Given the description of an element on the screen output the (x, y) to click on. 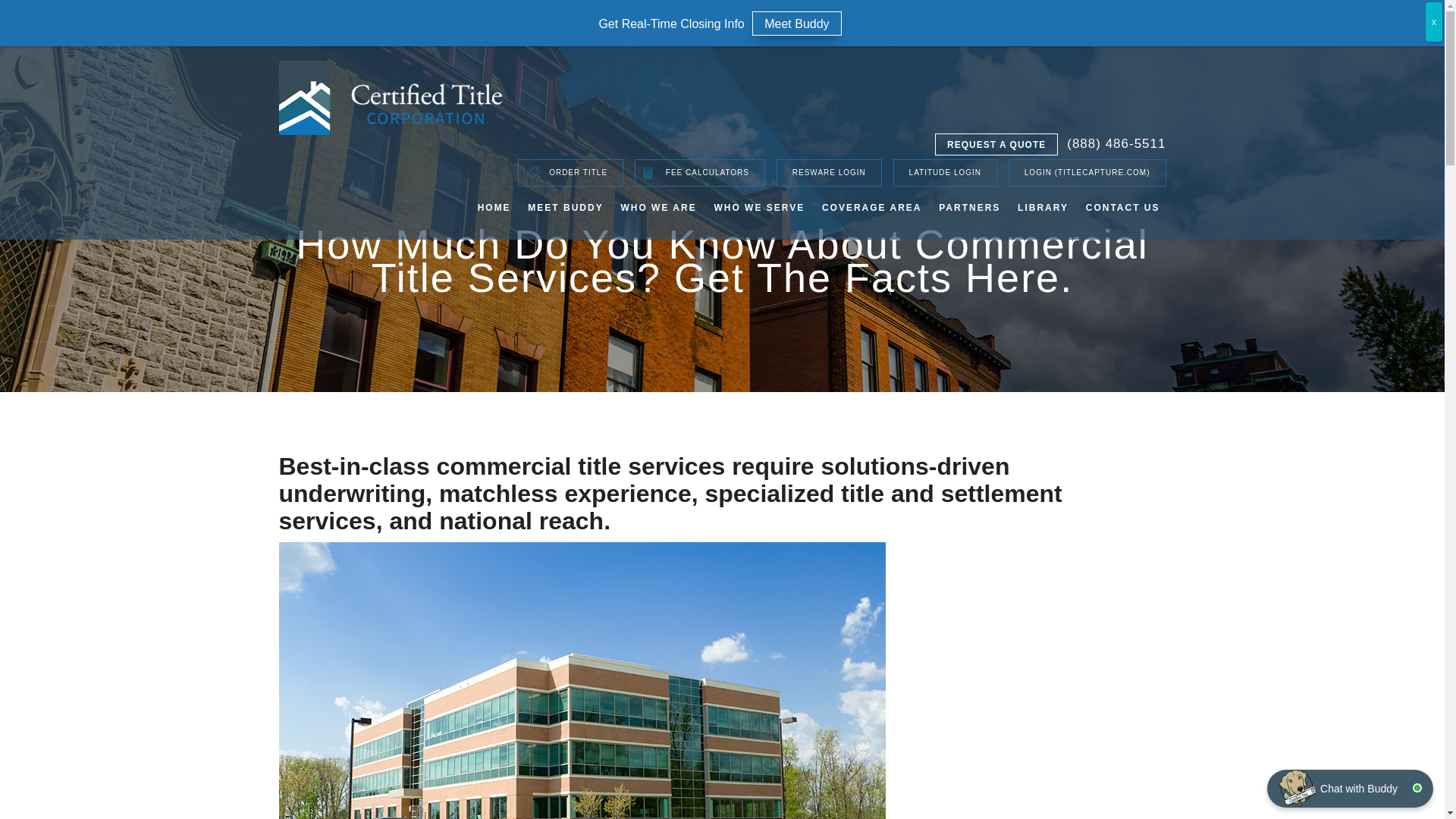
HOME (494, 209)
REQUEST A QUOTE (996, 144)
Certified Title Corporation (391, 97)
MEET BUDDY (564, 209)
COVERAGE AREA (871, 209)
ORDER TITLE (570, 172)
FEE CALCULATORS (699, 172)
WHO WE SERVE (759, 209)
CONTACT US (1123, 209)
WHO WE ARE (657, 209)
PARTNERS (969, 209)
LATITUDE LOGIN (945, 172)
RESWARE LOGIN (829, 172)
LIBRARY (1042, 209)
